Given the description of an element on the screen output the (x, y) to click on. 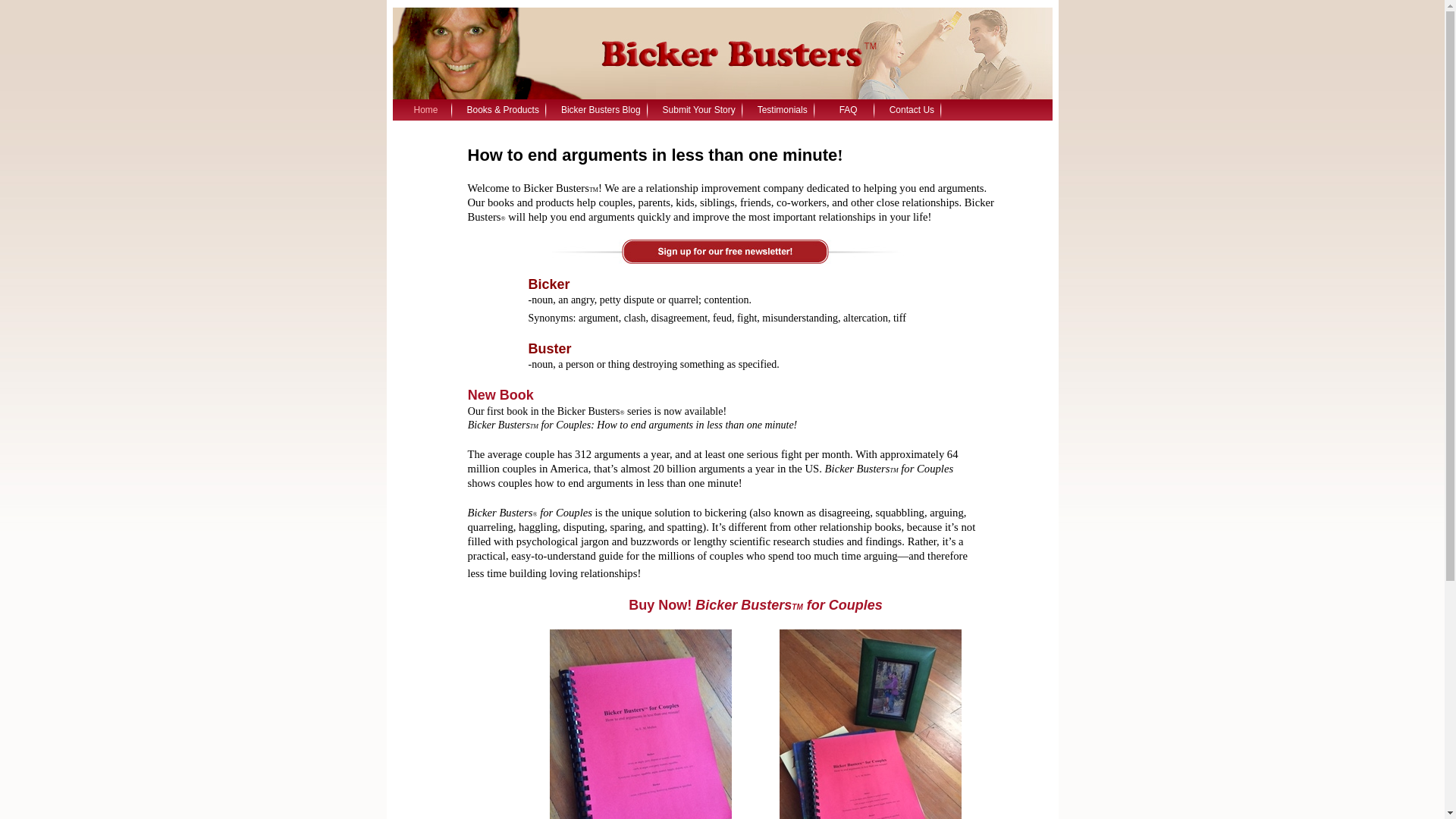
Bicker Busters Blog (597, 109)
Submit Your Story (694, 109)
Testimonials (778, 109)
Contact Us (908, 109)
FAQ (845, 109)
Home (422, 109)
